Given the description of an element on the screen output the (x, y) to click on. 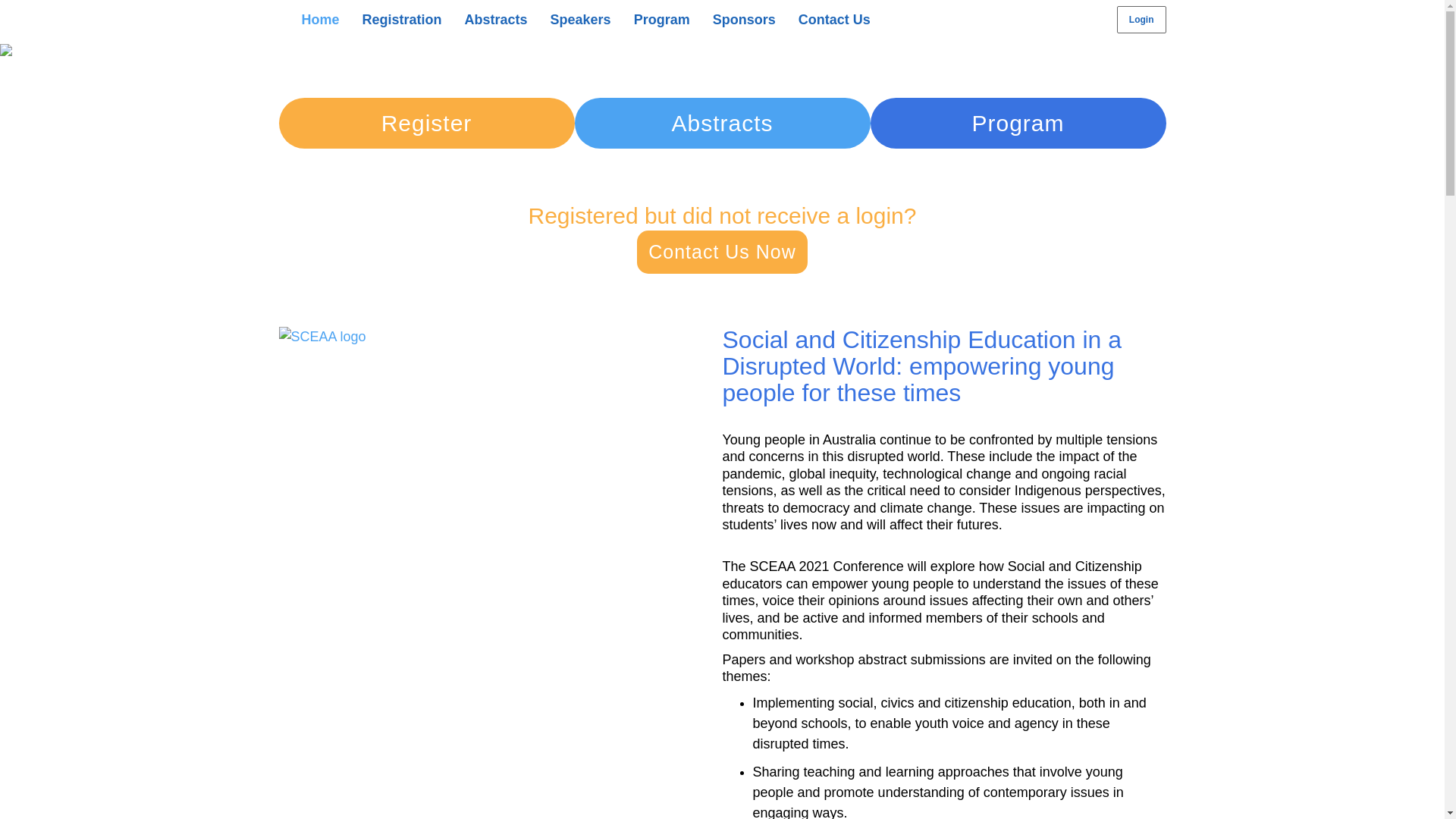
Sponsors Element type: text (744, 19)
Contact Us Now Element type: text (722, 251)
Registration Element type: text (402, 19)
Speakers Element type: text (580, 19)
Abstracts Element type: text (496, 19)
Abstracts Element type: text (722, 122)
Login Element type: text (1141, 19)
Program Element type: text (661, 19)
Register Element type: text (426, 122)
Home Element type: text (319, 19)
Program Element type: text (1018, 122)
Contact Us Element type: text (834, 19)
